Given the description of an element on the screen output the (x, y) to click on. 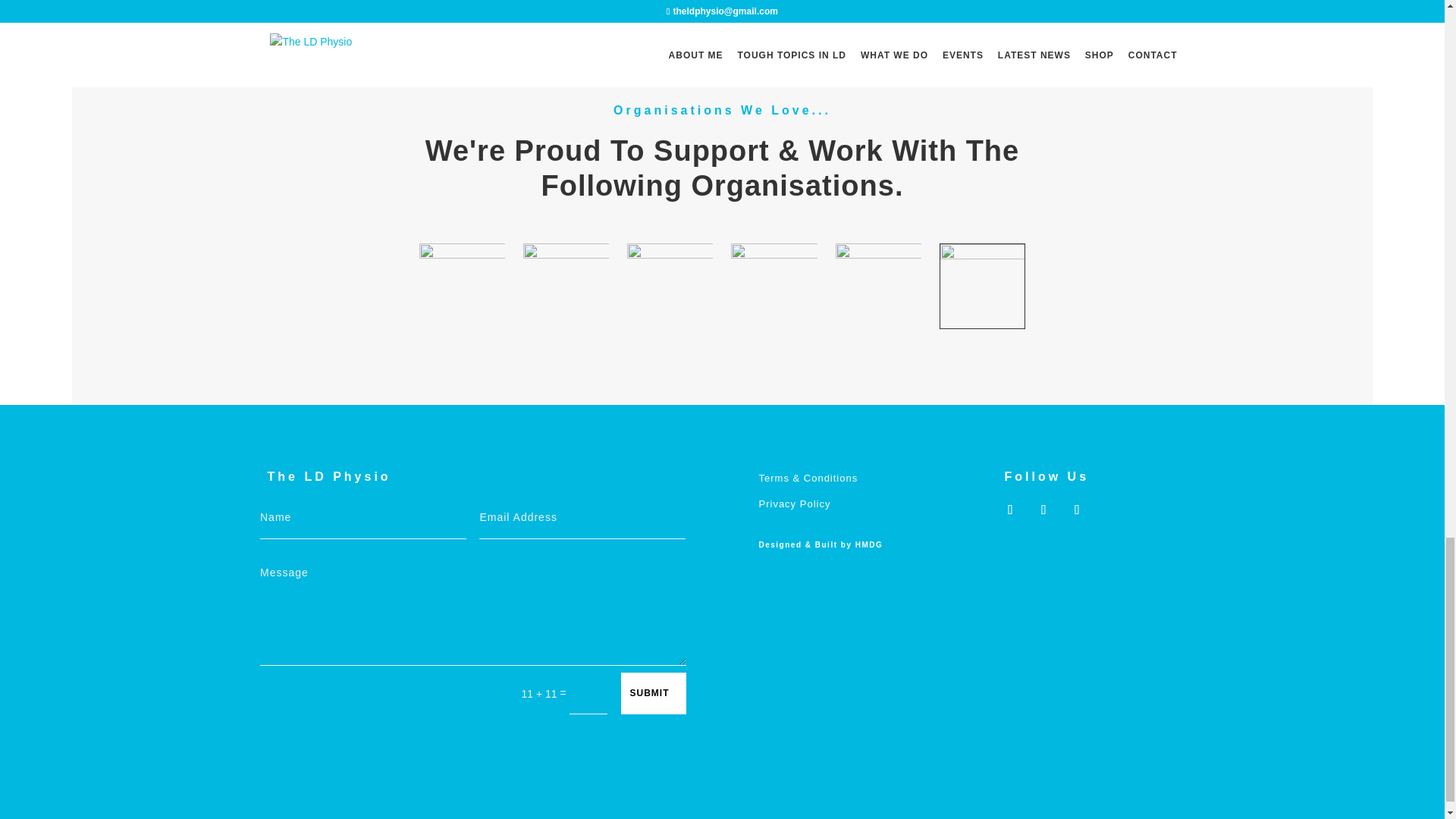
pmat (773, 286)
Follow on X (1009, 509)
tlc (878, 286)
Follow on Youtube (1076, 509)
SUBMIT (652, 693)
Follow on Instagram (1043, 509)
shallam (670, 286)
csp (461, 286)
acppld (565, 286)
